Given the description of an element on the screen output the (x, y) to click on. 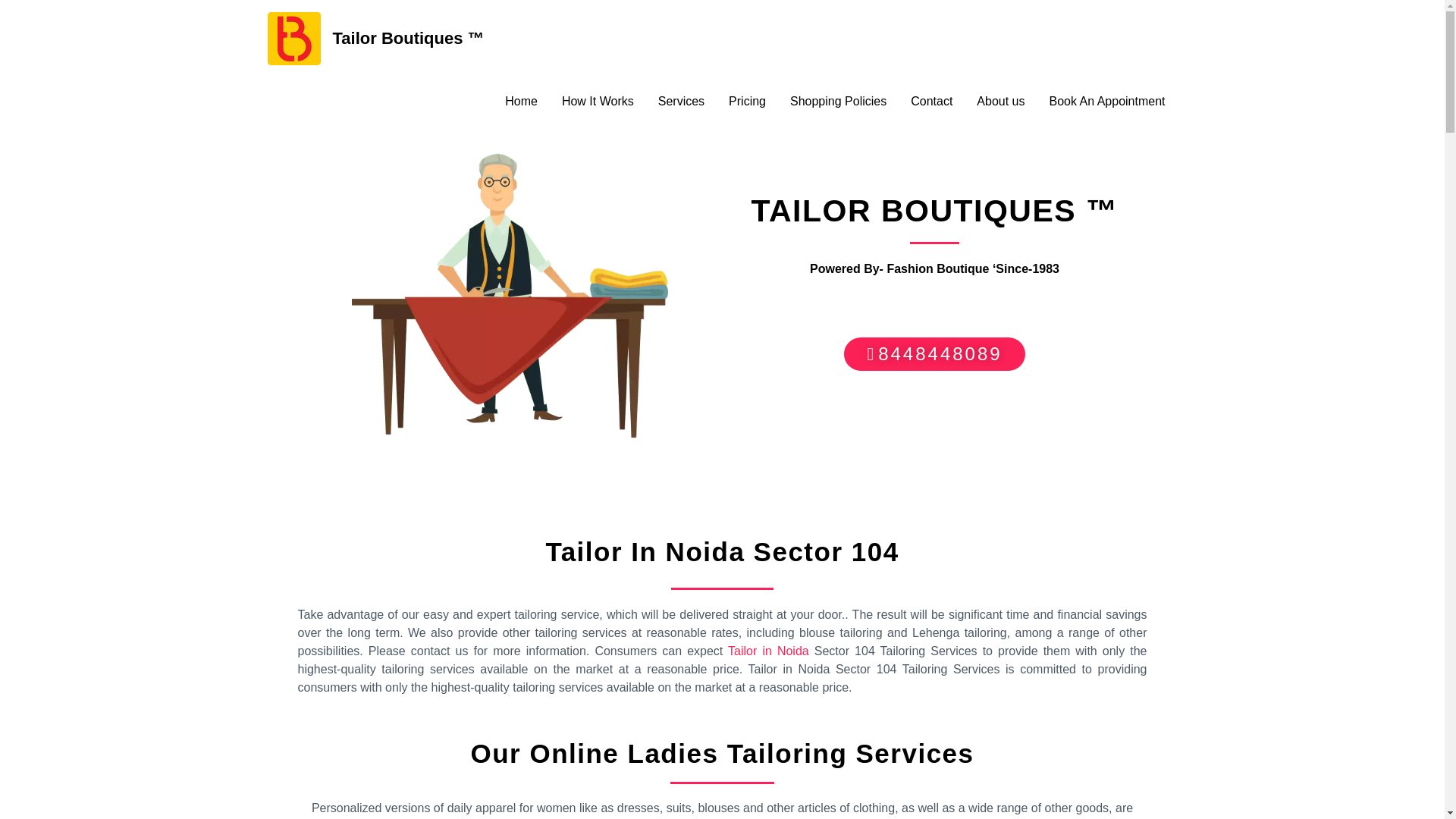
About us (999, 101)
Services (681, 101)
8448448089 (934, 354)
Home (521, 101)
Pricing (746, 101)
Contact (930, 101)
Tailor in Noida (768, 650)
Shopping Policies (837, 101)
Book An Appointment (1106, 101)
How It Works (598, 101)
